Given the description of an element on the screen output the (x, y) to click on. 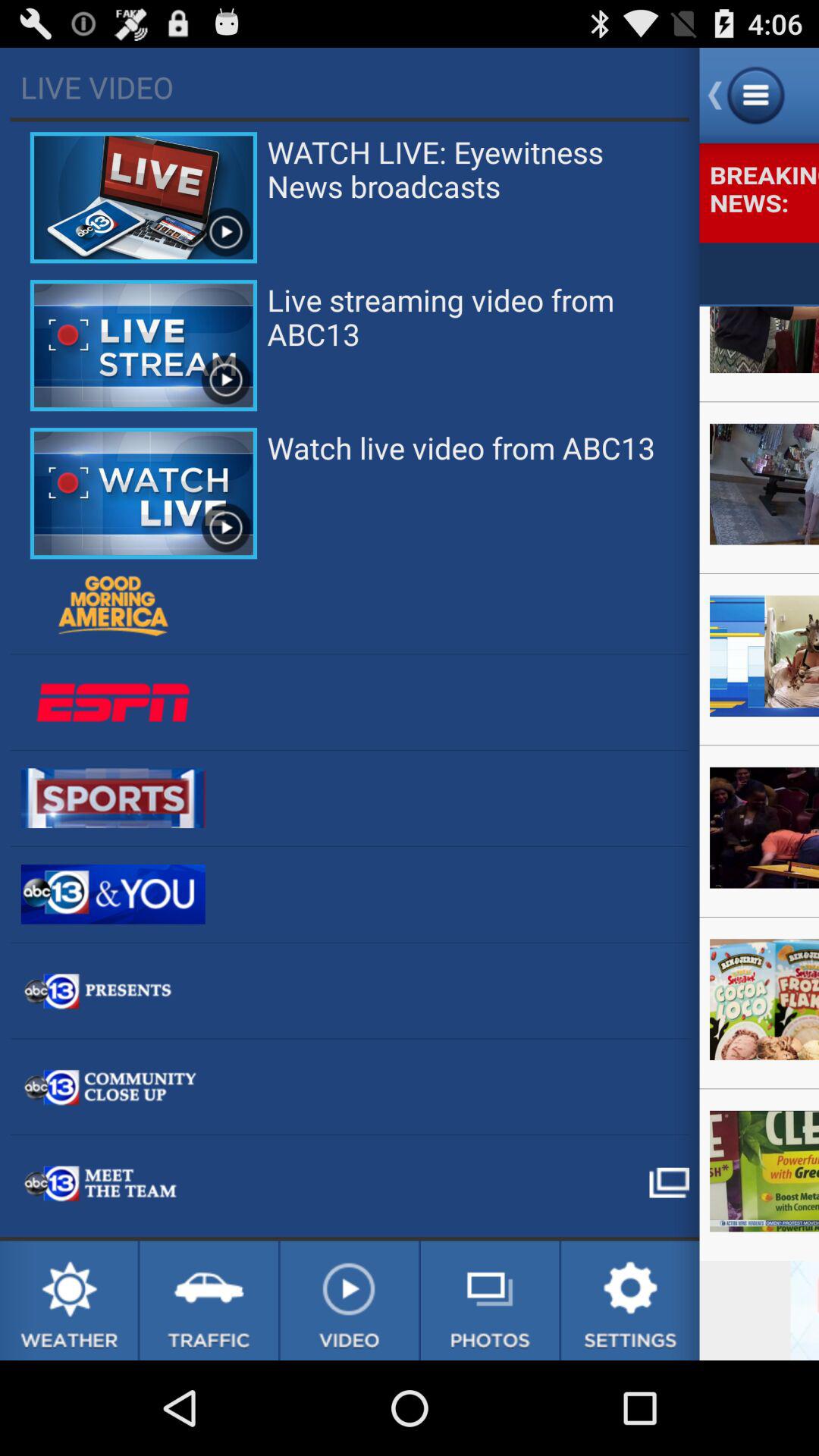
open gallery (489, 1300)
